Given the description of an element on the screen output the (x, y) to click on. 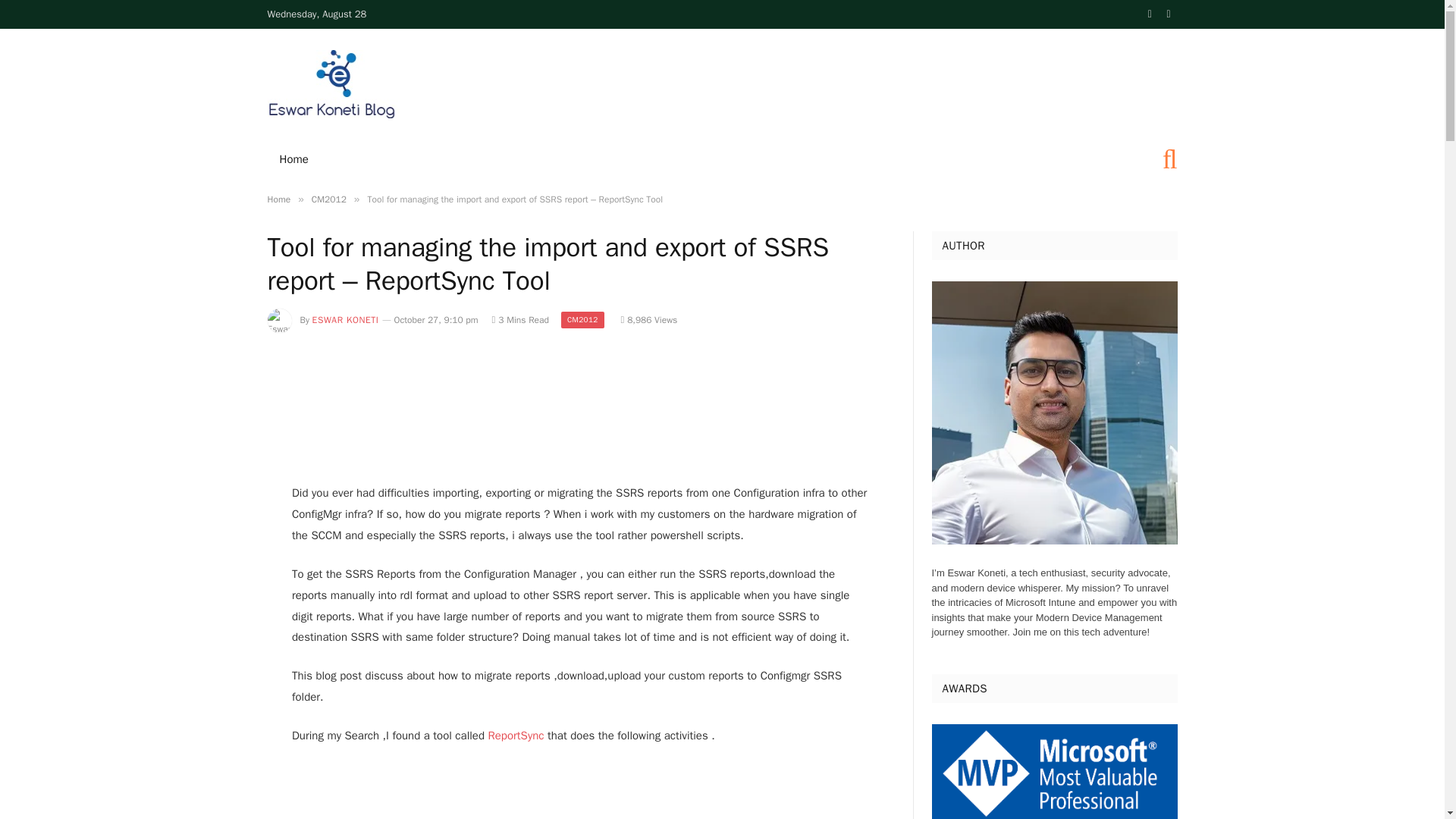
ReportSync (515, 735)
CM2012 (328, 199)
CM2012 (582, 320)
8,986 Article Views (648, 319)
All about Microsoft Endpoint Manager (332, 84)
Home (293, 159)
Home (277, 199)
Posts by Eswar Koneti (345, 319)
ESWAR KONETI (345, 319)
